Given the description of an element on the screen output the (x, y) to click on. 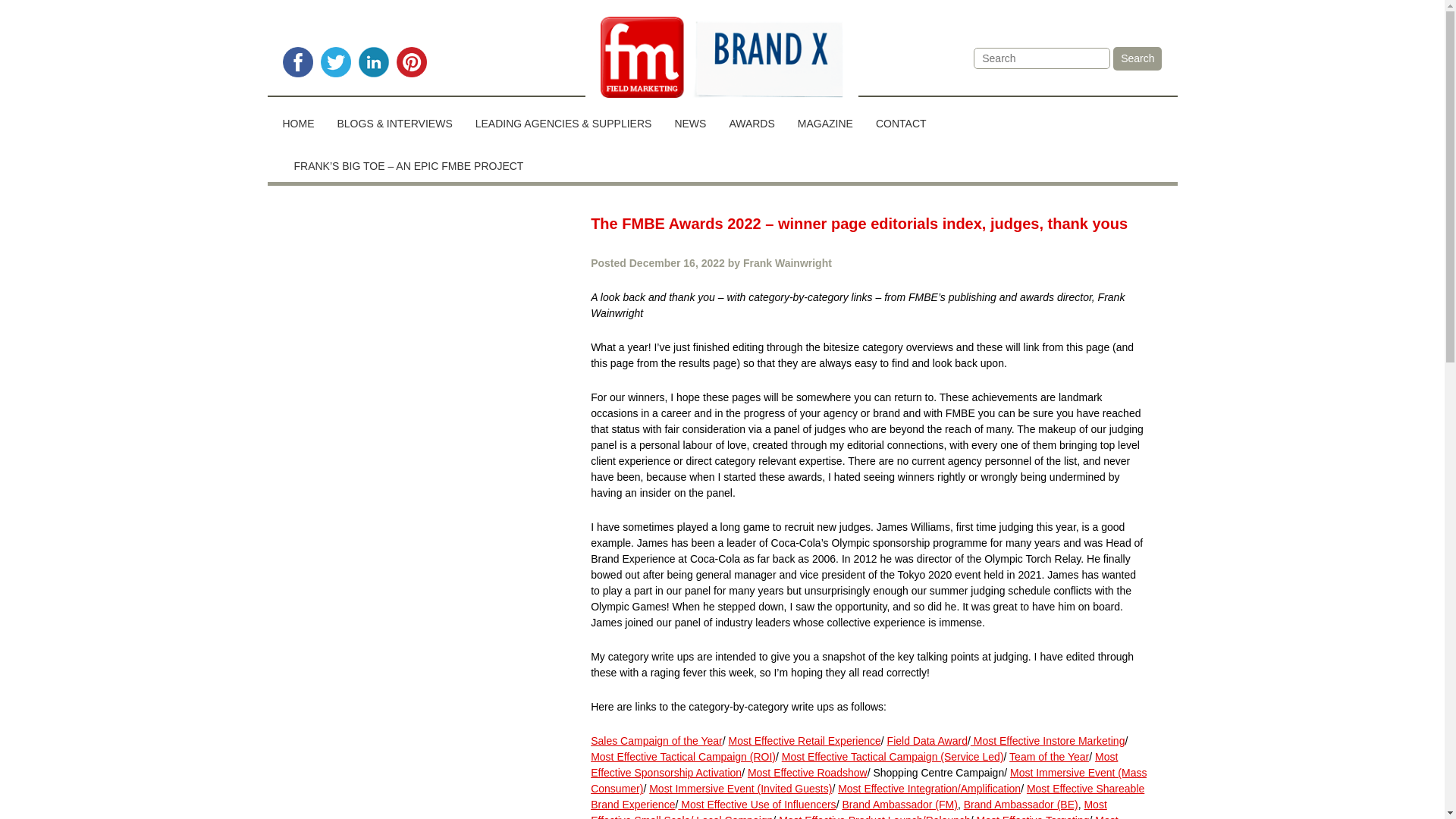
AWARDS (751, 118)
HOME (303, 118)
Fieldmarketing (722, 59)
Search (1137, 58)
MAGAZINE (825, 118)
NEWS (689, 118)
